Given the description of an element on the screen output the (x, y) to click on. 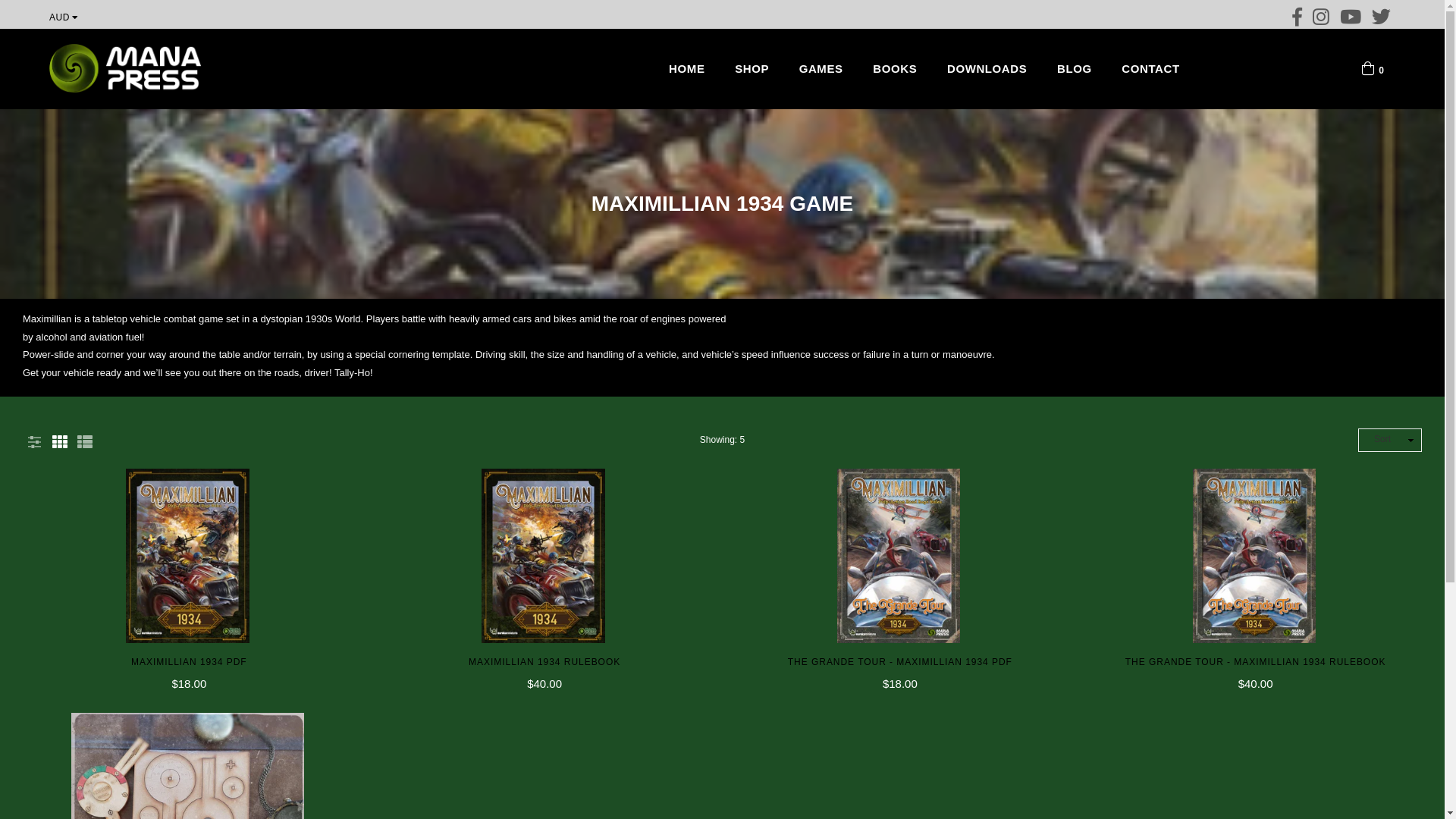
THE GRANDE TOUR - MAXIMILLIAN 1934 PDF Element type: text (900, 661)
SHOP Element type: text (751, 68)
HOME Element type: text (686, 68)
Instagram Element type: text (1321, 13)
THE GRANDE TOUR - MAXIMILLIAN 1934 RULEBOOK Element type: text (1254, 661)
Facebook Element type: text (1297, 13)
DOWNLOADS Element type: text (986, 68)
MAXIMILLIAN 1934 RULEBOOK Element type: text (544, 661)
Grid View Element type: hover (59, 439)
Twitter Element type: text (1381, 13)
0 Element type: text (1372, 66)
Filter Element type: hover (33, 439)
GAMES Element type: text (820, 68)
YouTube Element type: text (1350, 13)
MAXIMILLIAN 1934 PDF Element type: text (188, 661)
List View Element type: hover (84, 439)
BLOG Element type: text (1074, 68)
CONTACT Element type: text (1149, 68)
BOOKS Element type: text (894, 68)
